Given the description of an element on the screen output the (x, y) to click on. 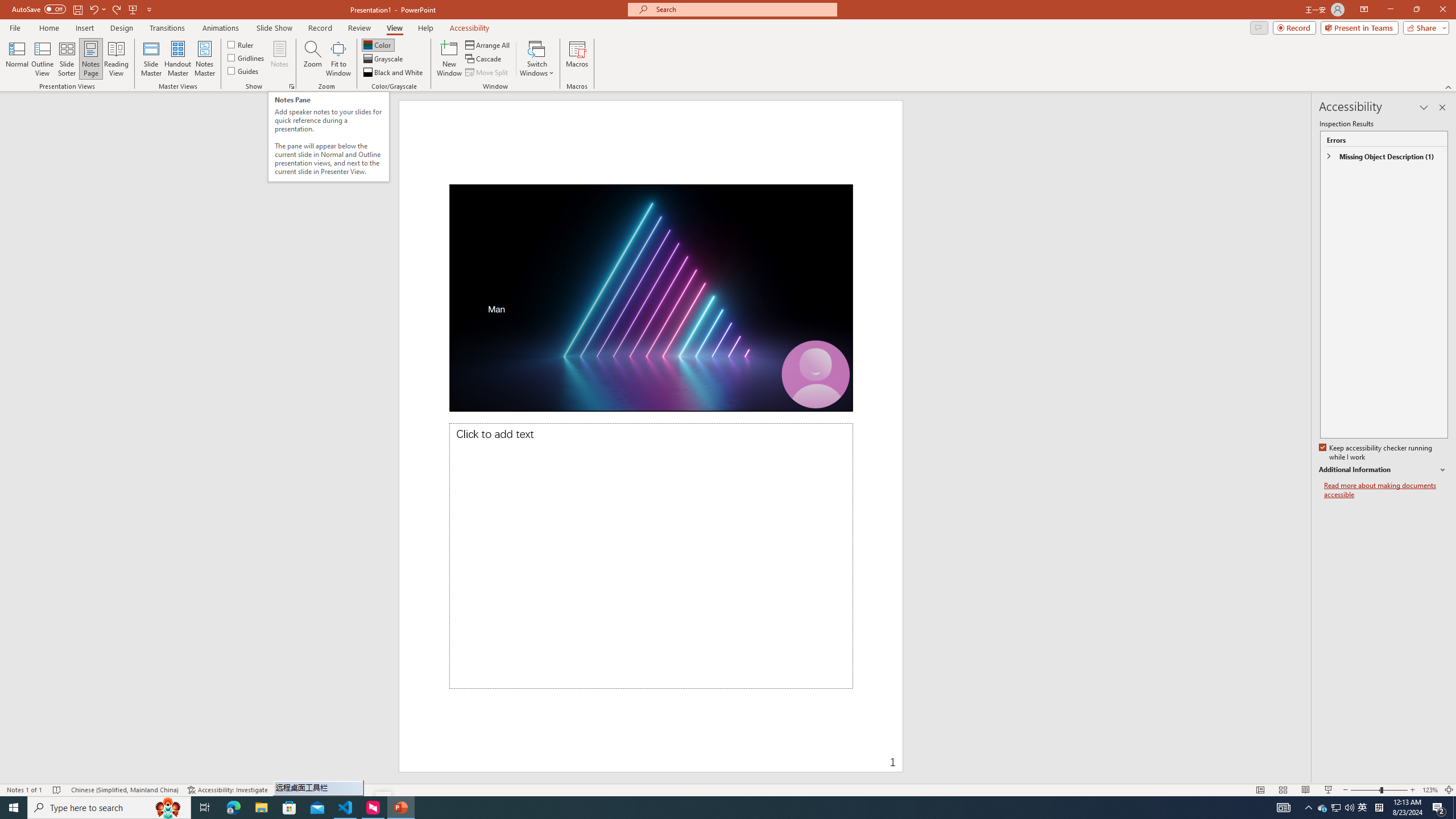
Move Split (487, 72)
